Given the description of an element on the screen output the (x, y) to click on. 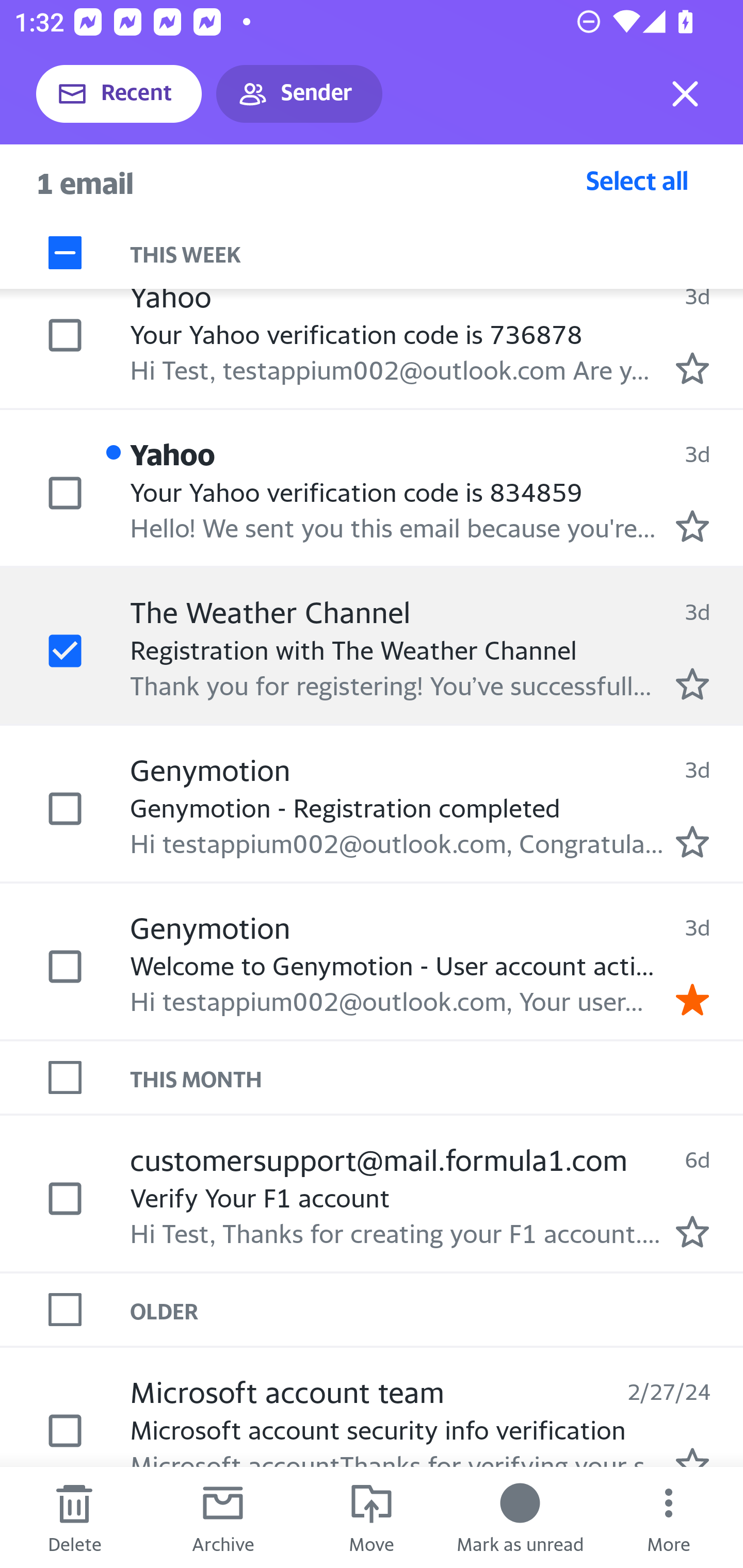
Sender (299, 93)
Exit selection mode (684, 93)
Select all (637, 180)
Mark as starred. (692, 367)
Mark as starred. (692, 526)
Mark as starred. (692, 684)
Mark as starred. (692, 841)
Remove star. (692, 999)
THIS MONTH (436, 1077)
Mark as starred. (692, 1231)
OLDER (436, 1309)
Delete (74, 1517)
Archive (222, 1517)
Move (371, 1517)
Mark as unread (519, 1517)
More (668, 1517)
